Given the description of an element on the screen output the (x, y) to click on. 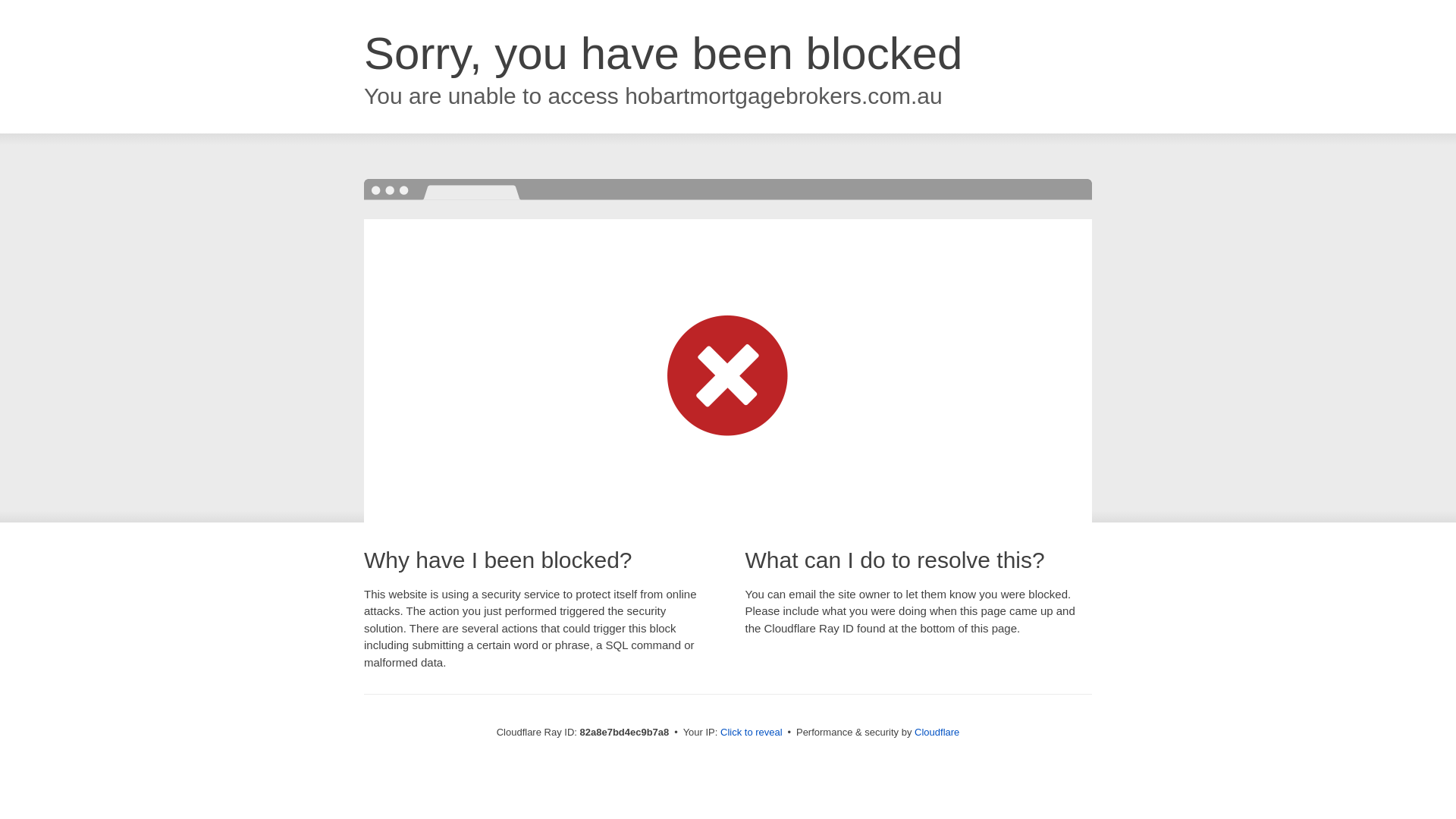
Cloudflare Element type: text (936, 731)
Click to reveal Element type: text (751, 732)
